Given the description of an element on the screen output the (x, y) to click on. 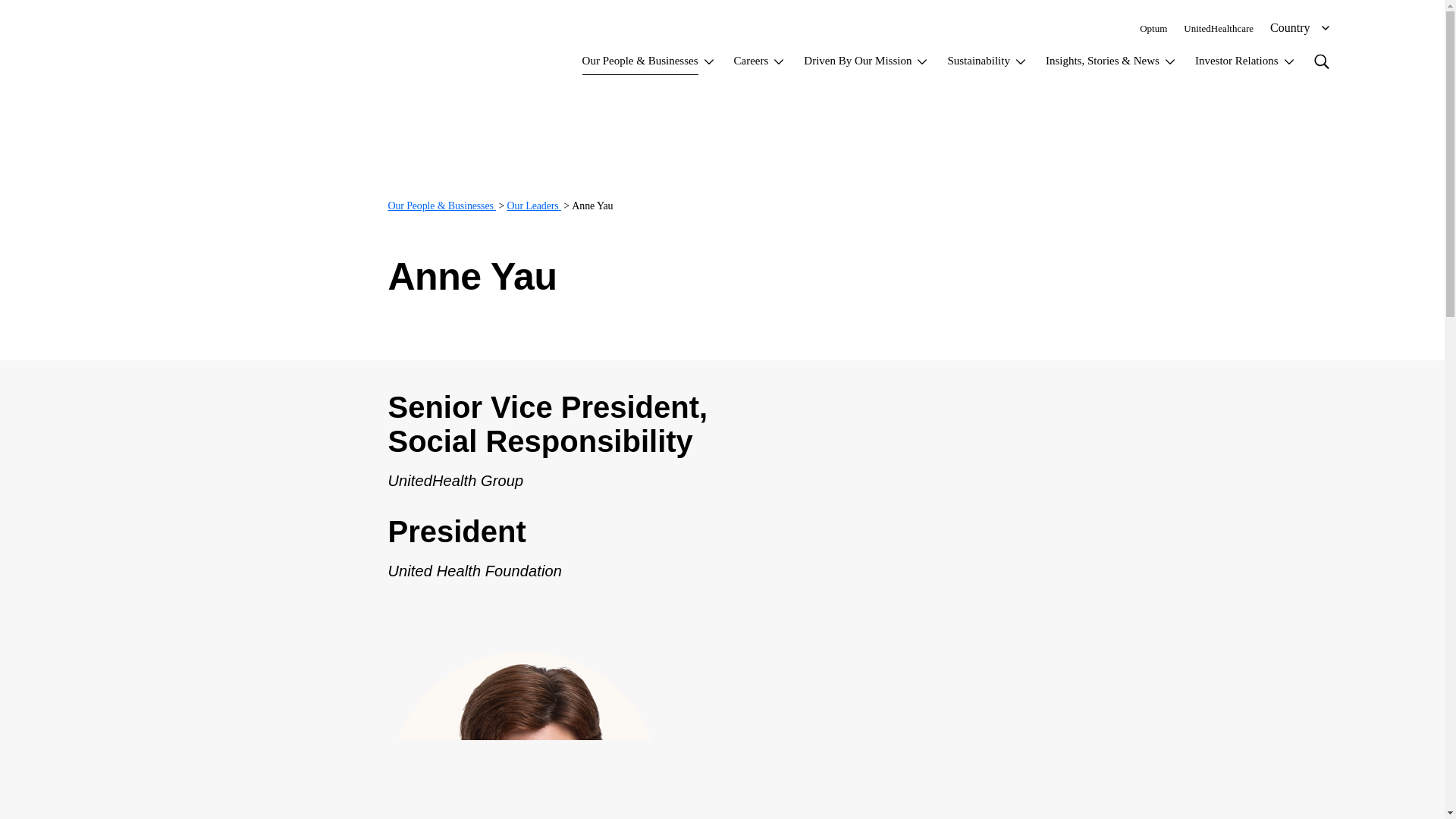
Driven By Our Mission (865, 63)
Careers (759, 63)
Search (1320, 61)
